Given the description of an element on the screen output the (x, y) to click on. 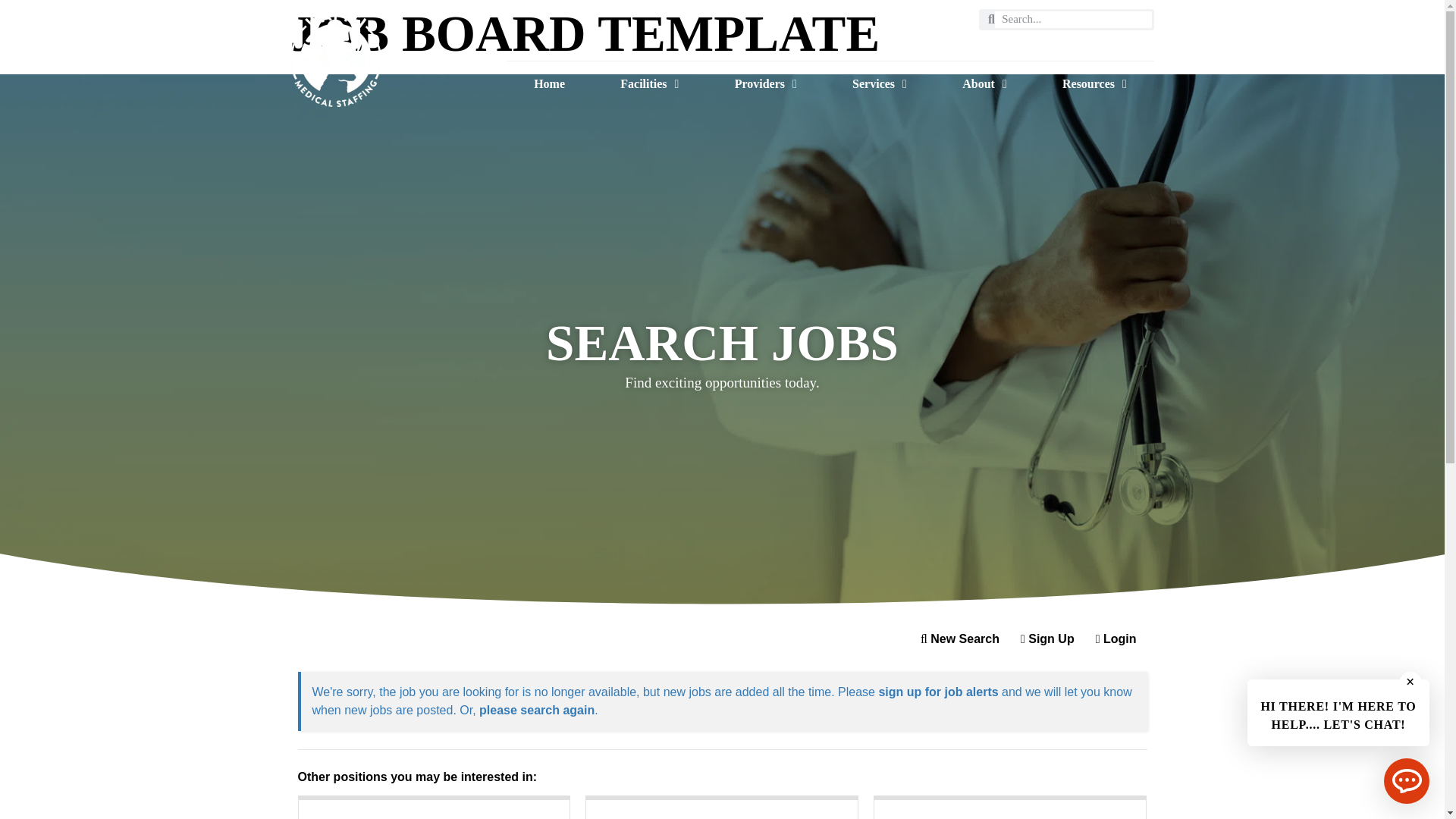
Home (549, 84)
Providers (765, 84)
Facilities (649, 84)
SUBMIT AVAILABILITY (1088, 45)
VIEW SCHEDULE (969, 45)
Services (879, 84)
About (984, 84)
Resources (1093, 84)
